Given the description of an element on the screen output the (x, y) to click on. 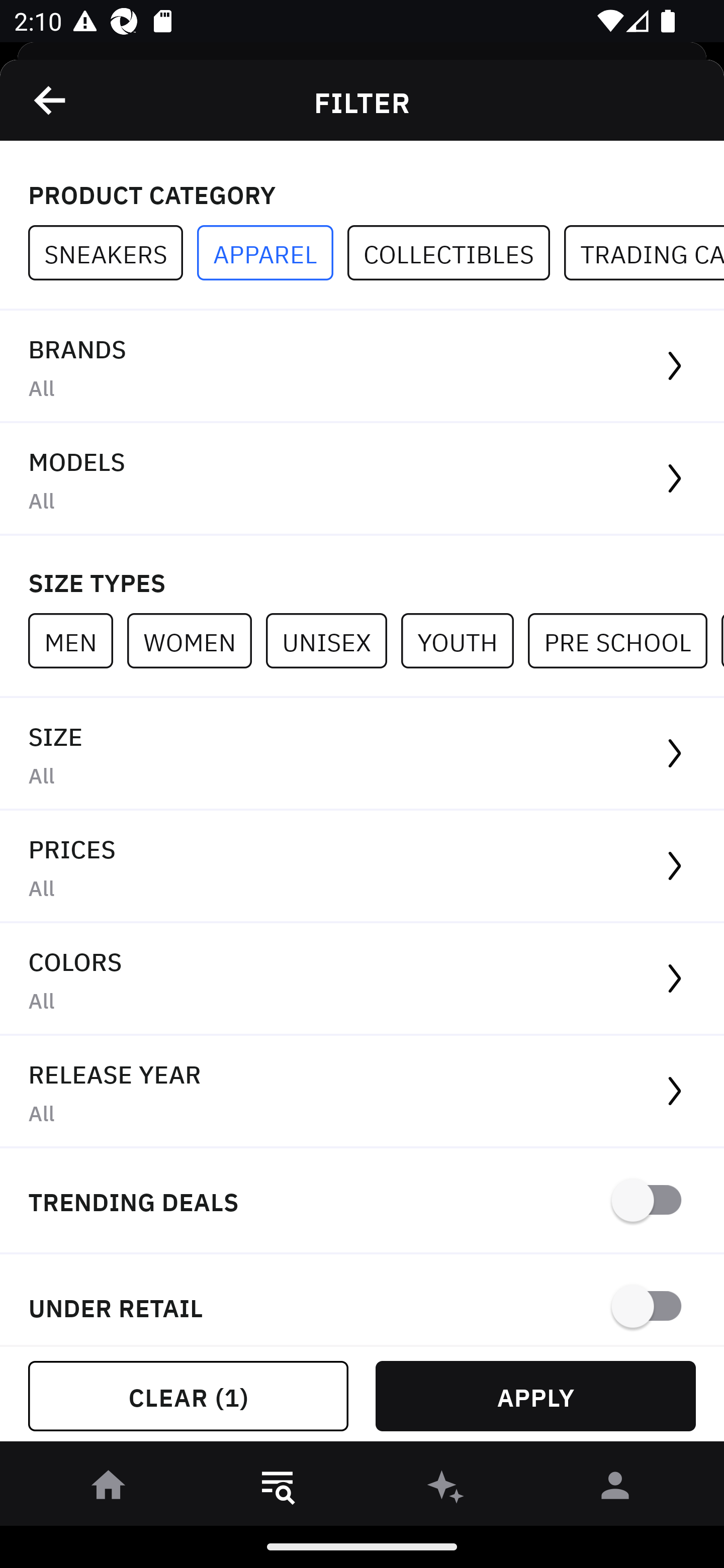
 (50, 100)
SNEAKERS (112, 252)
APPAREL (271, 252)
COLLECTIBLES (455, 252)
TRADING CARDS (643, 252)
BRANDS All (362, 366)
MODELS All (362, 479)
MEN (77, 640)
WOMEN (196, 640)
UNISEX (333, 640)
YOUTH (464, 640)
PRE SCHOOL (624, 640)
SIZE All (362, 753)
PRICES All (362, 866)
COLORS All (362, 979)
RELEASE YEAR All (362, 1091)
TRENDING DEALS (362, 1200)
UNDER RETAIL (362, 1299)
CLEAR (1) (188, 1396)
APPLY (535, 1396)
󰋜 (108, 1488)
󱎸 (277, 1488)
󰫢 (446, 1488)
󰀄 (615, 1488)
